Given the description of an element on the screen output the (x, y) to click on. 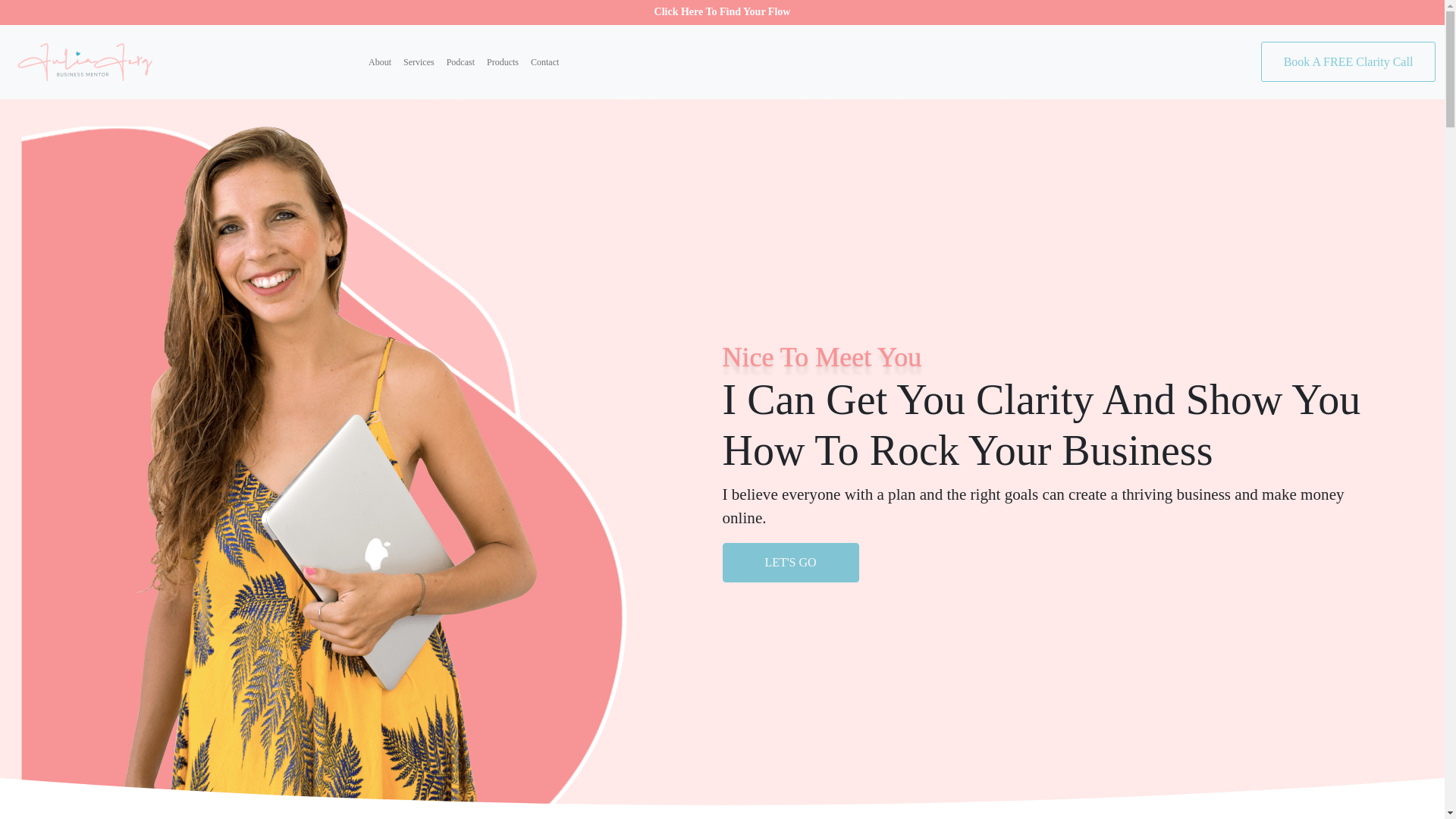
Click Here To Find Your Flow (722, 12)
Products (502, 62)
LET'S GO (790, 562)
Services (419, 62)
Contact (544, 62)
Book A FREE Clarity Call (1347, 61)
LET'S GO (790, 561)
Podcast (460, 62)
About (379, 62)
